Given the description of an element on the screen output the (x, y) to click on. 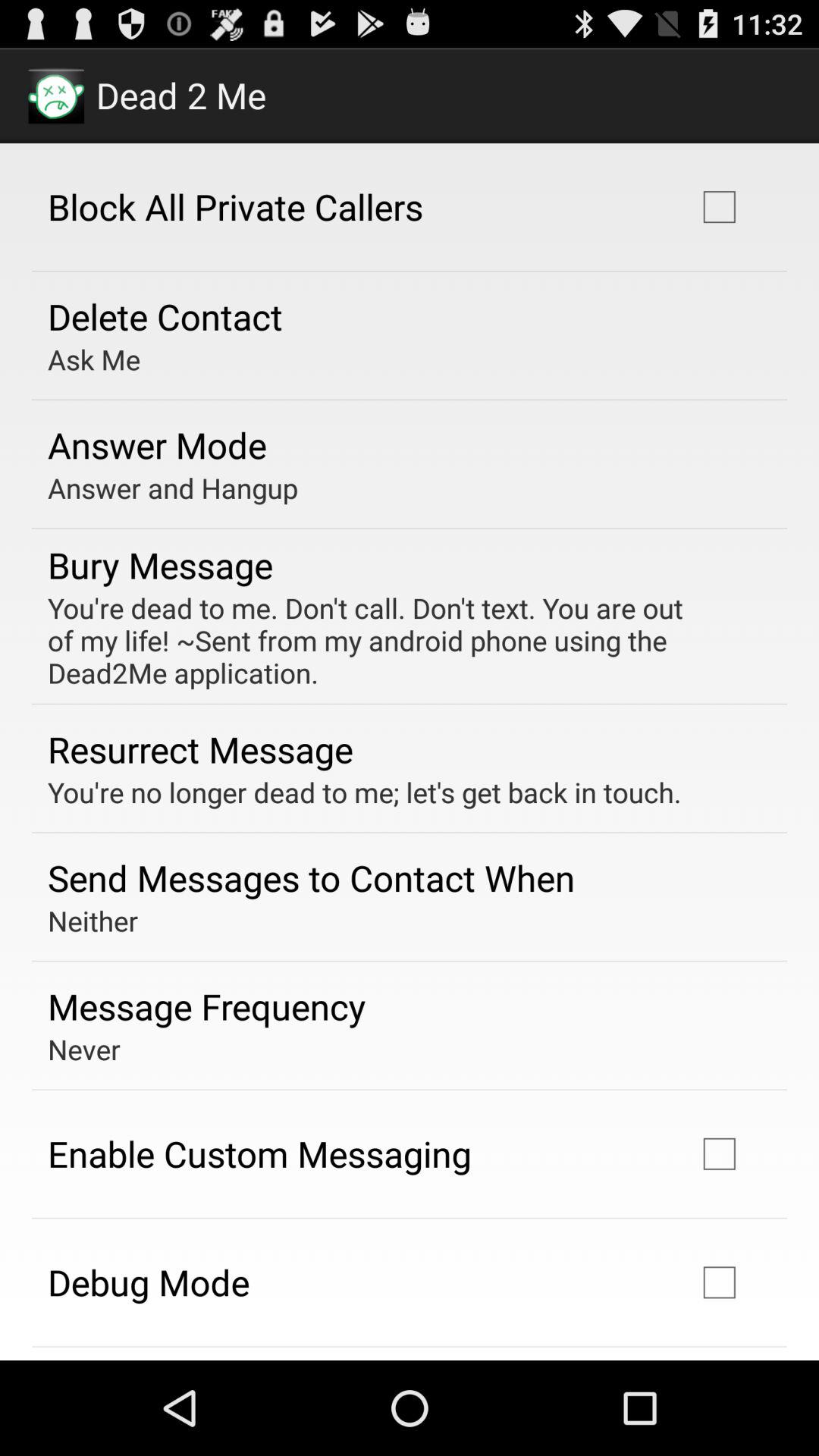
launch the app below the answer and hangup app (160, 564)
